Given the description of an element on the screen output the (x, y) to click on. 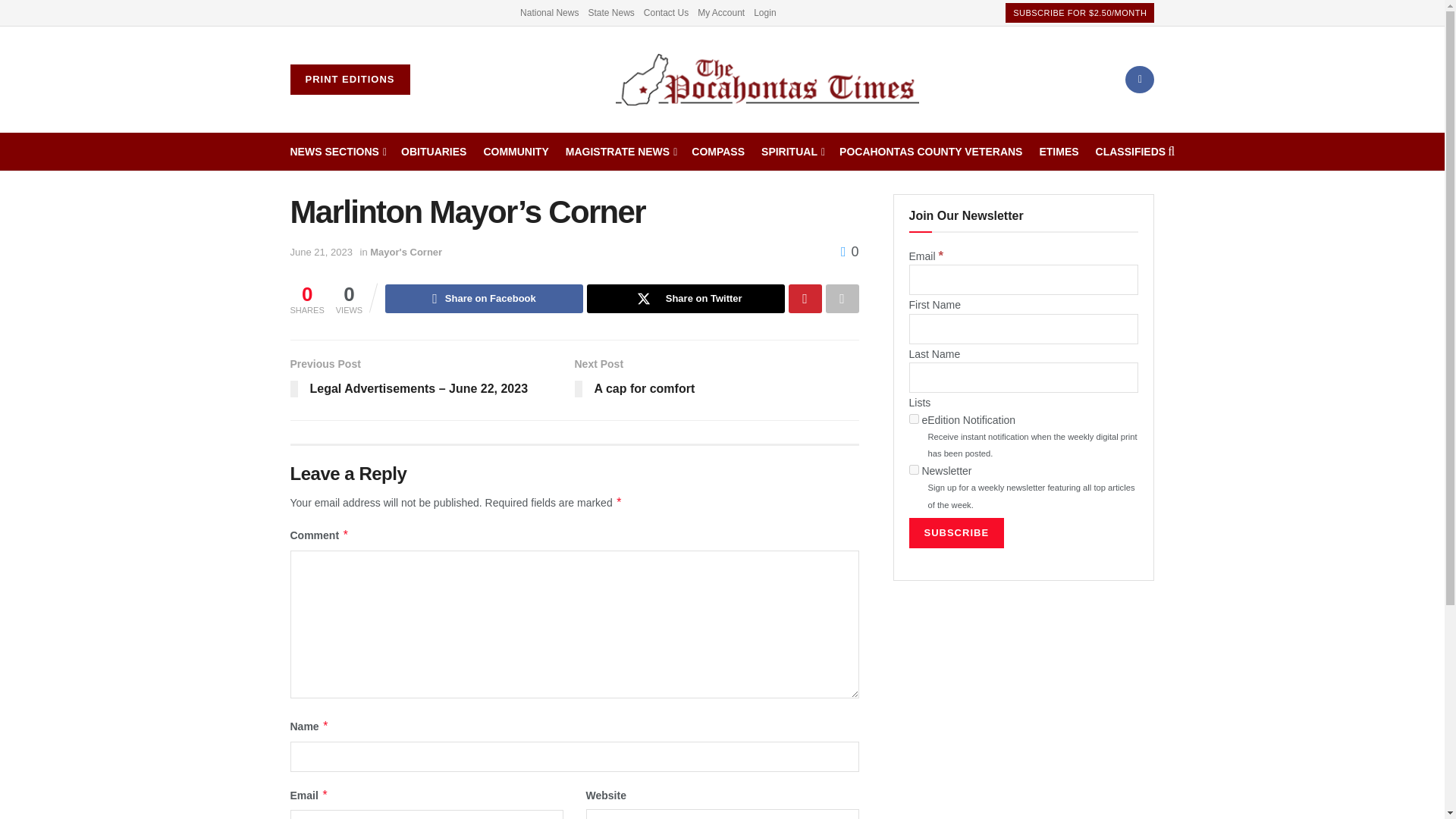
COMMUNITY (515, 151)
POCAHONTAS COUNTY VETERANS (931, 151)
My Account (720, 12)
National News (548, 12)
MAGISTRATE NEWS (620, 151)
PRINT EDITIONS (349, 79)
State News (610, 12)
Contact Us (665, 12)
CLASSIFIEDS (1131, 151)
COMPASS (717, 151)
June 21, 2023 (320, 251)
ETIMES (1058, 151)
2 (913, 470)
